Given the description of an element on the screen output the (x, y) to click on. 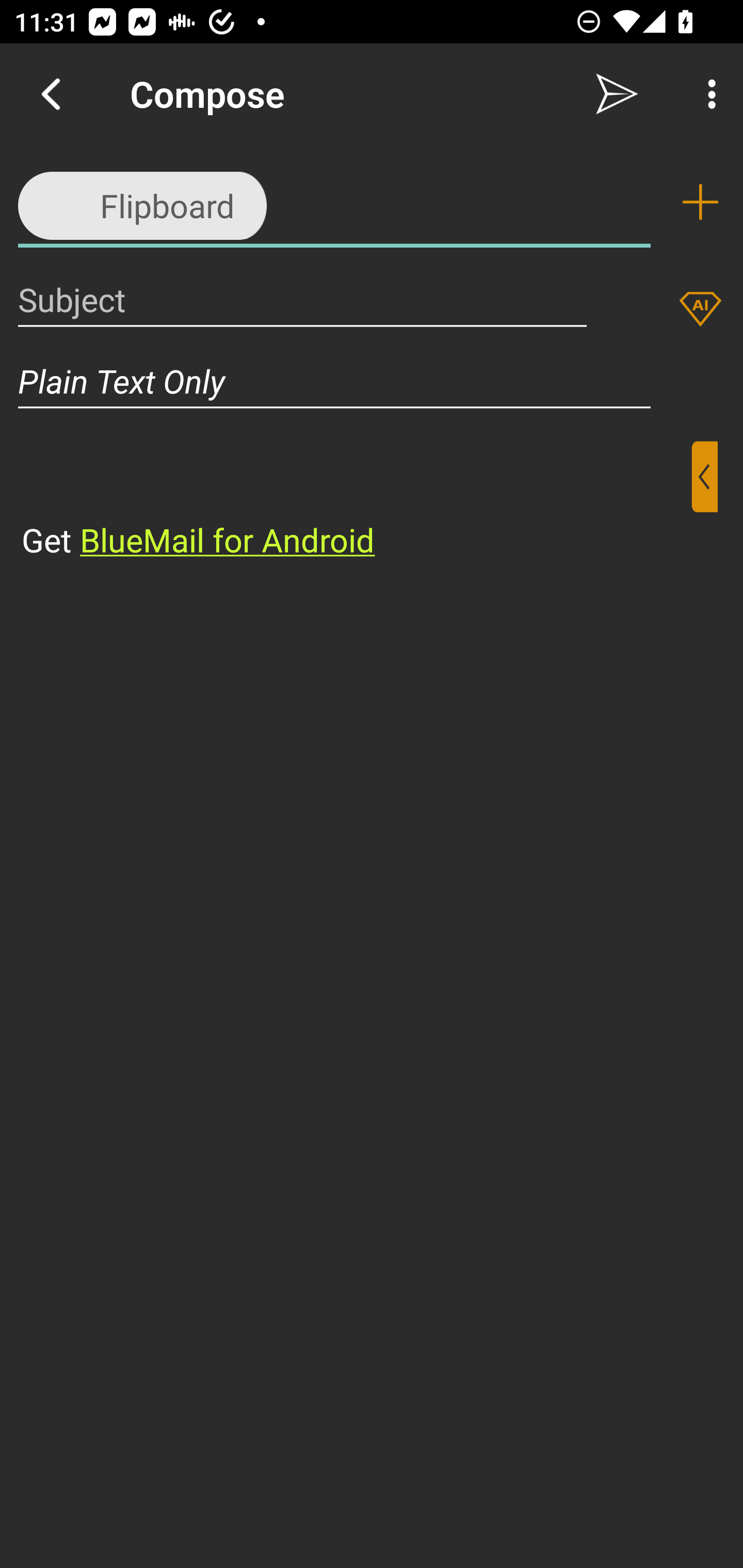
Navigate up (50, 93)
Send (616, 93)
More Options (706, 93)
Flipboard <editorialstaff@flipboard.com>,  (334, 201)
Add recipient (To) (699, 201)
Subject (302, 299)
Plain Text Only (371, 380)


⁣Get BlueMail for Android ​ (355, 501)
